Given the description of an element on the screen output the (x, y) to click on. 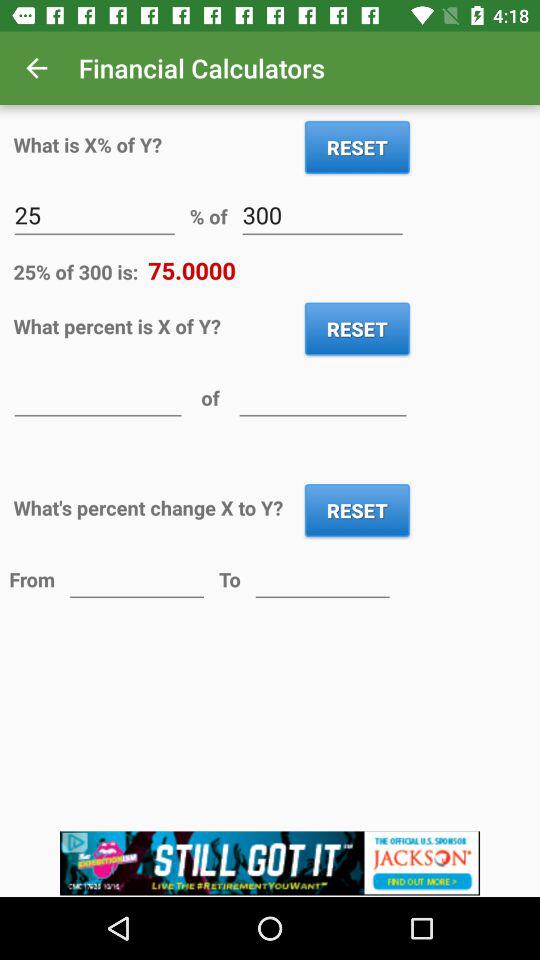
enter percent (97, 396)
